Given the description of an element on the screen output the (x, y) to click on. 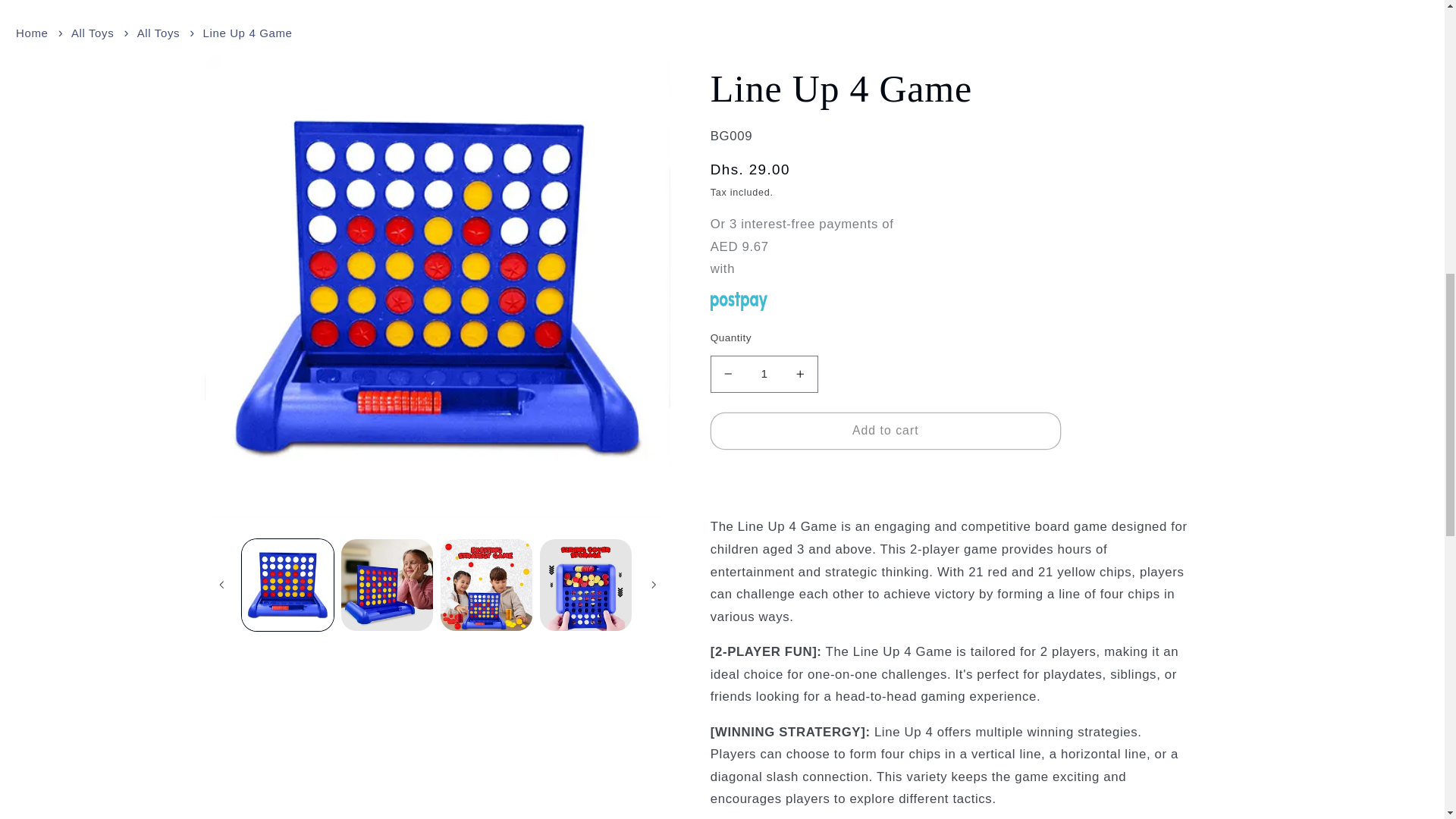
All Toys (92, 32)
All Toys (157, 32)
Home (32, 32)
1 (764, 374)
